Given the description of an element on the screen output the (x, y) to click on. 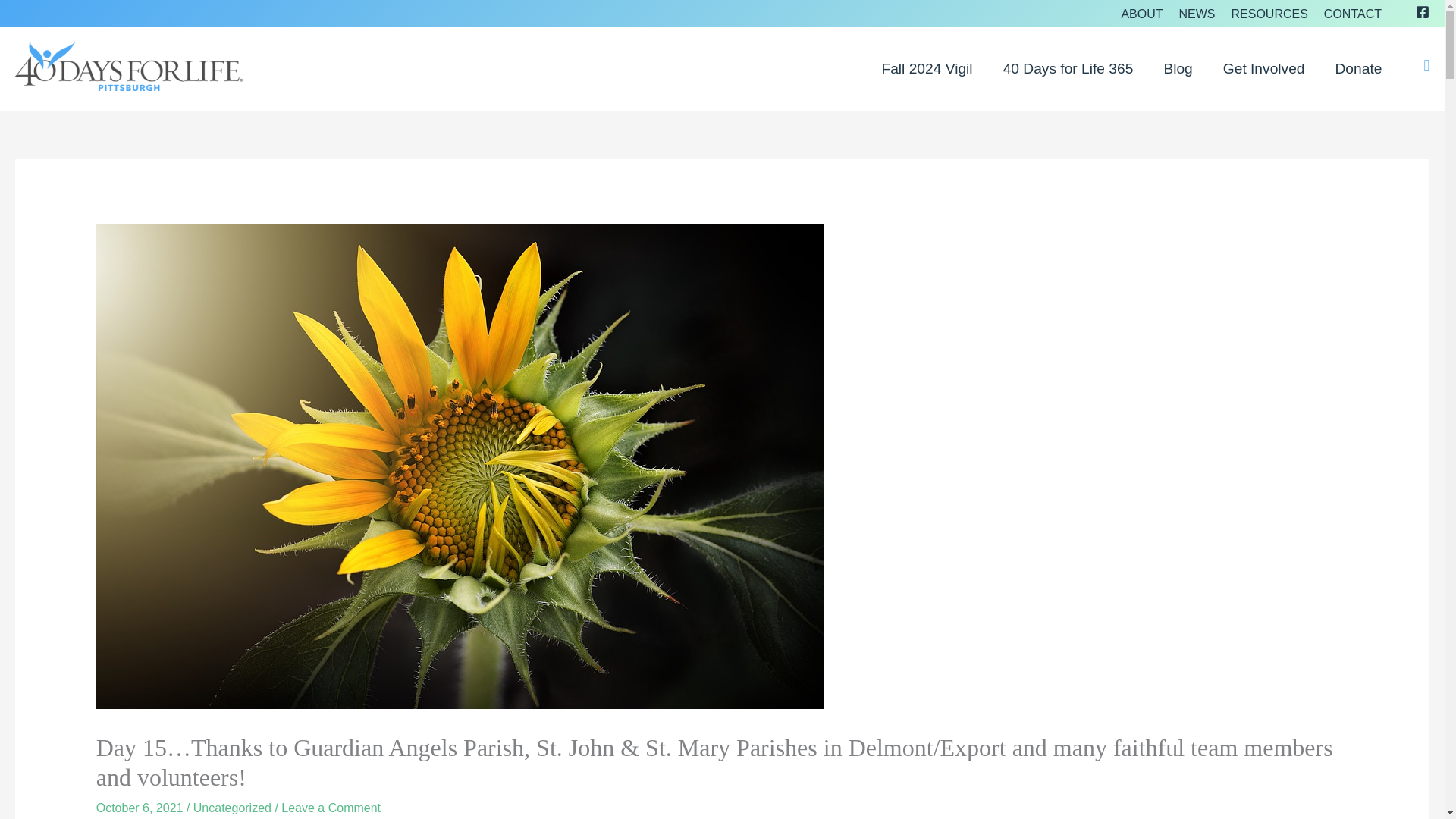
RESOURCES (1265, 13)
NEWS (1192, 13)
Leave a Comment (330, 807)
CONTACT (1348, 13)
40 Days for Life 365 (1068, 68)
Donate (1358, 68)
Blog (1177, 68)
Uncategorized (231, 807)
Get Involved (1264, 68)
ABOUT (1137, 13)
